Given the description of an element on the screen output the (x, y) to click on. 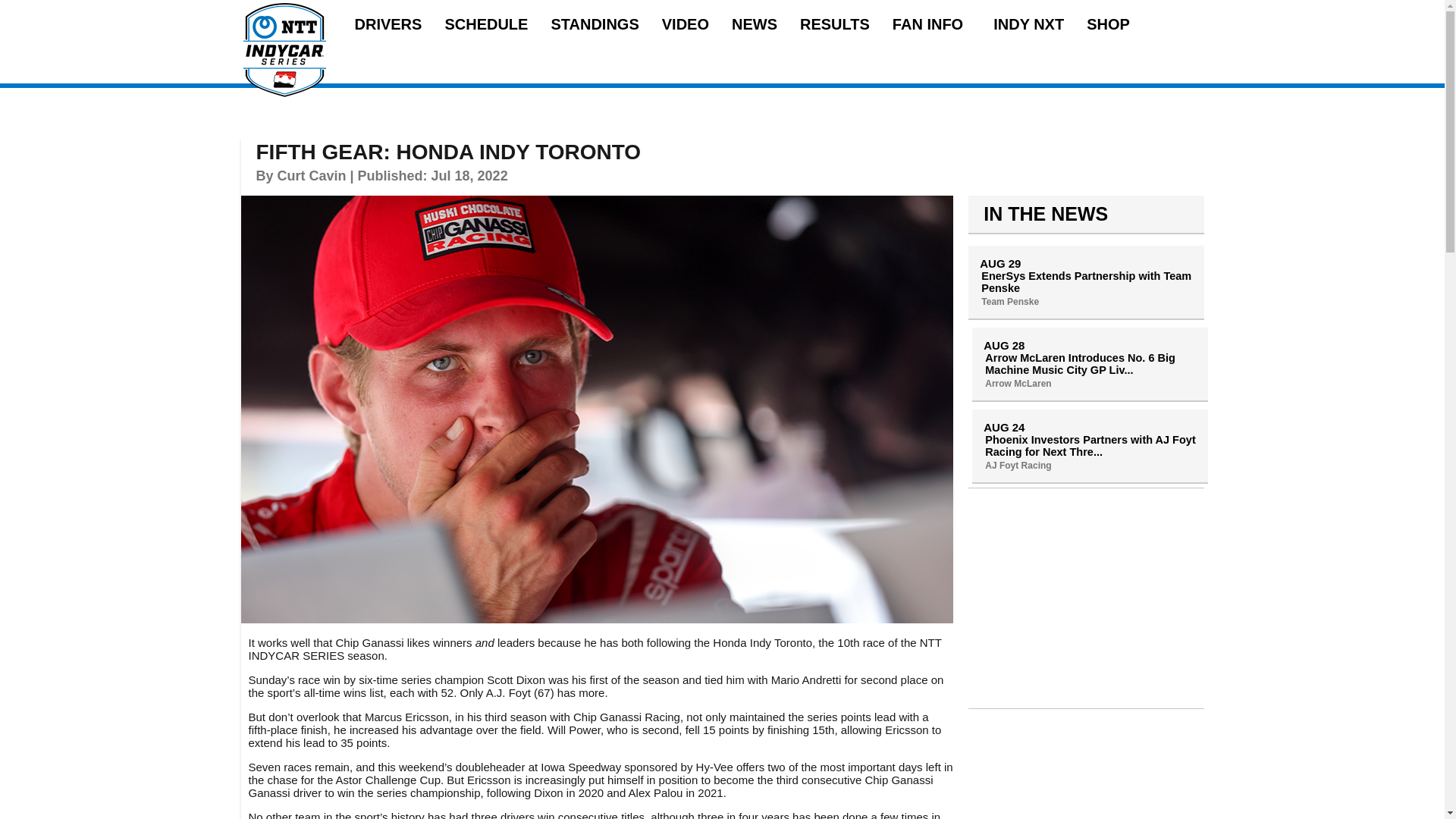
STANDINGS (594, 24)
SHOP (1107, 24)
DRIVERS (388, 24)
NEWS (754, 24)
VIDEO (685, 24)
SCHEDULE (485, 24)
RESULTS (834, 24)
